Given the description of an element on the screen output the (x, y) to click on. 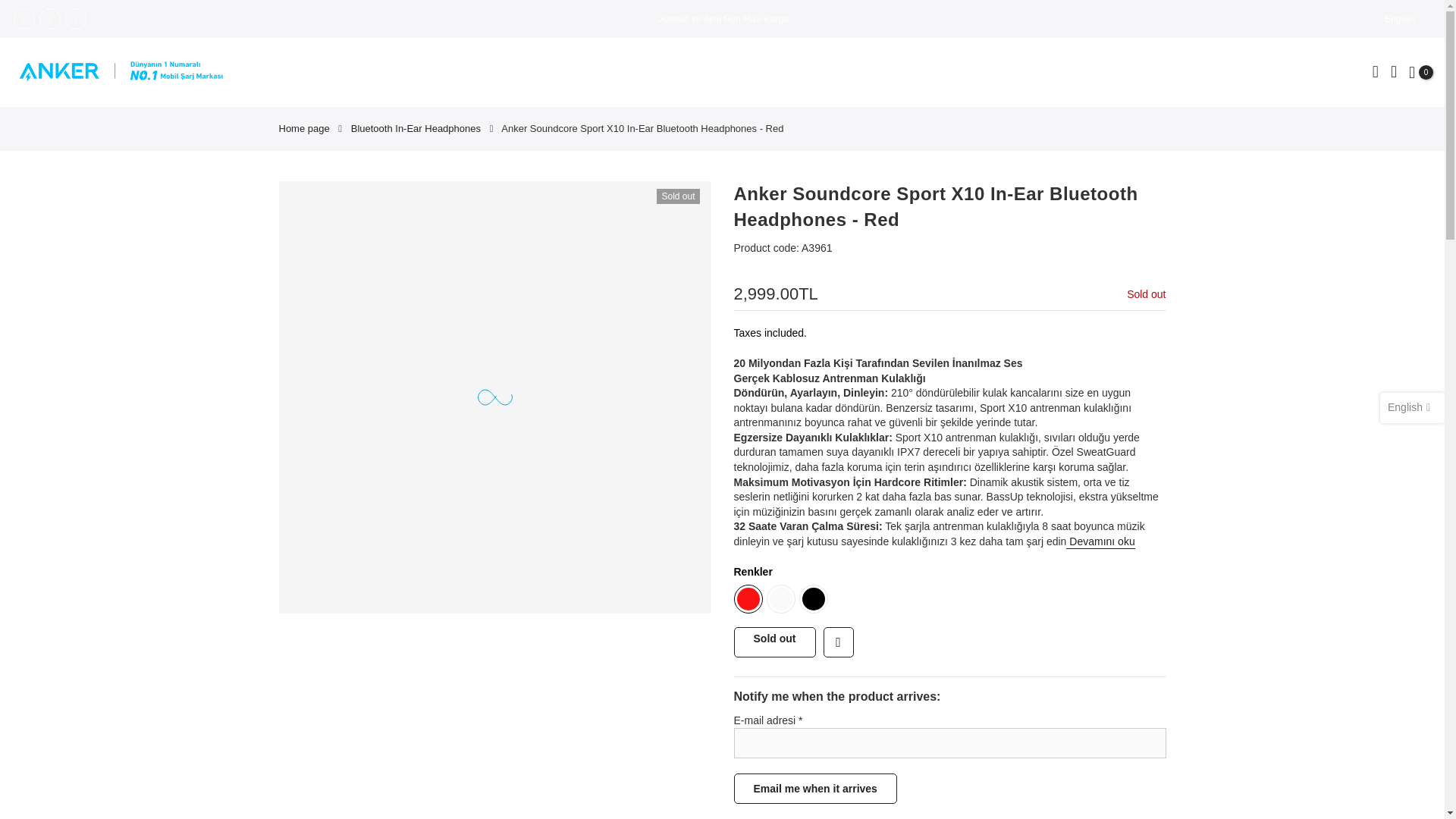
Blog (760, 72)
Email me when it arrives (814, 788)
Anasayfa (630, 72)
0 (1420, 71)
Bluetooth In-Ear Headphones (415, 128)
Sold out (774, 642)
Home page (304, 128)
